Given the description of an element on the screen output the (x, y) to click on. 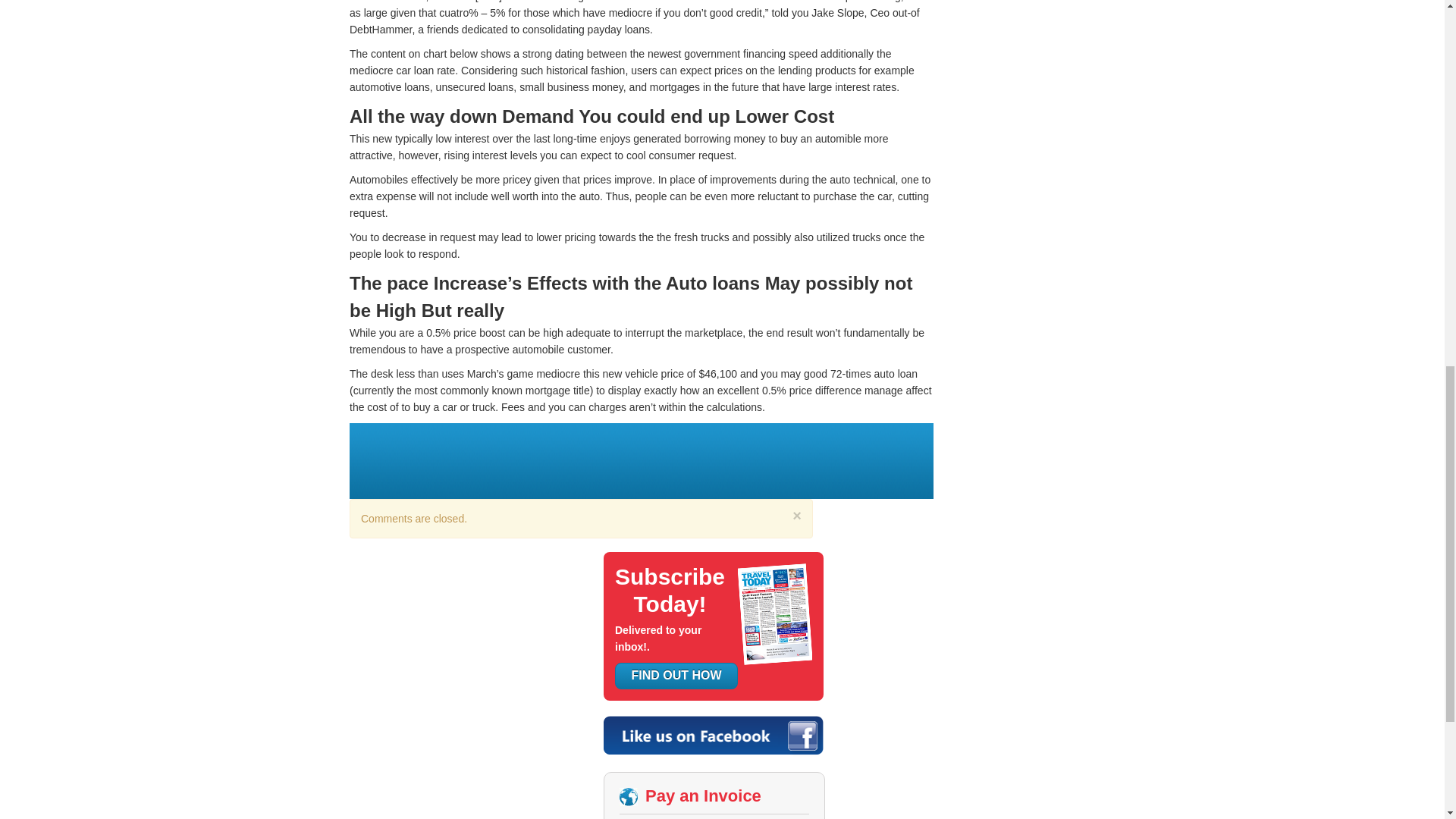
FIND OUT HOW (676, 675)
